Given the description of an element on the screen output the (x, y) to click on. 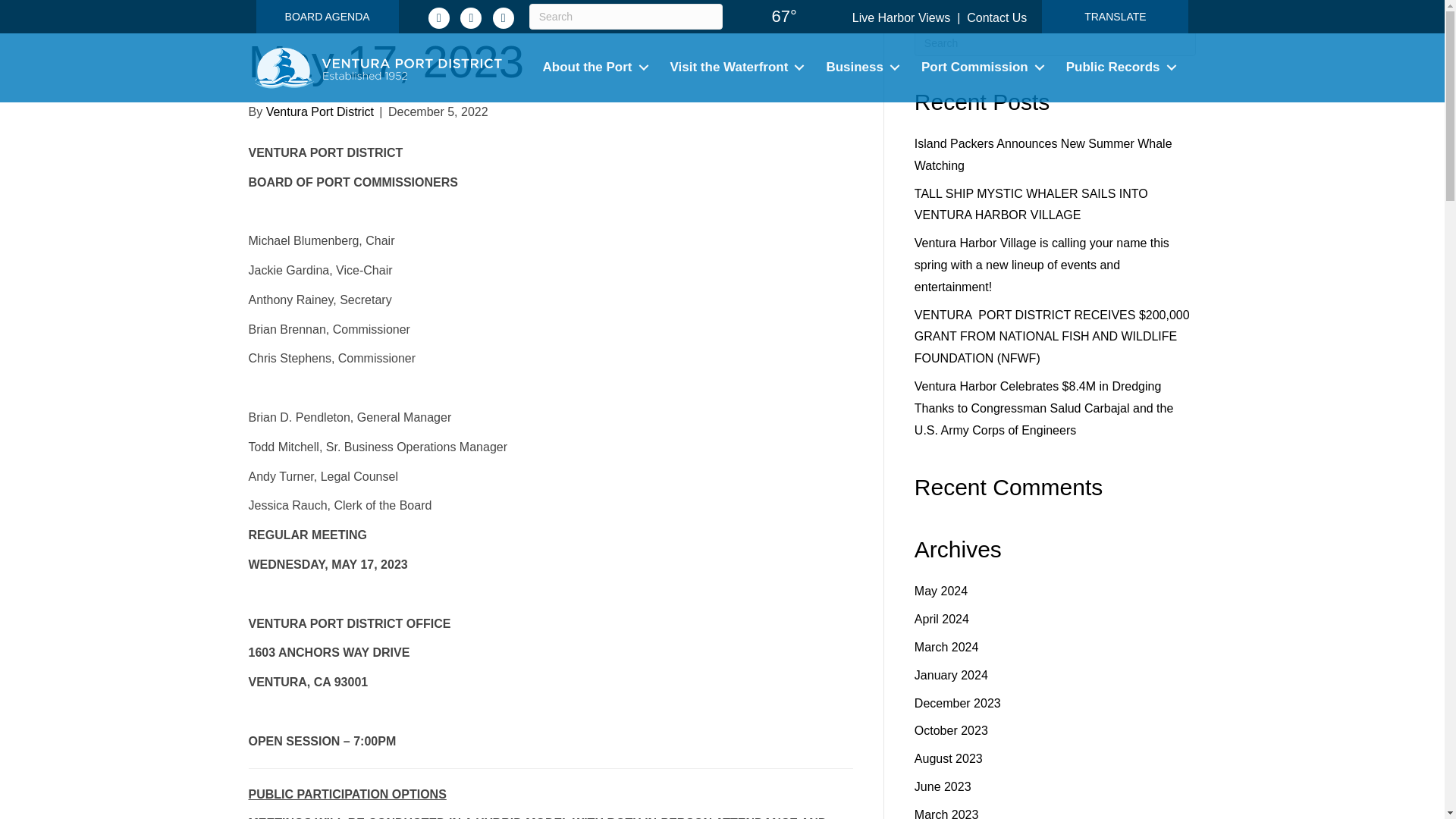
About the Port (596, 67)
Type and press Enter to search. (1055, 43)
Live Harbor Views (900, 17)
TRANSLATE (1115, 16)
Type and press Enter to search. (625, 16)
Visit the Waterfront (738, 67)
Contact Us (996, 17)
BOARD AGENDA (327, 16)
